Given the description of an element on the screen output the (x, y) to click on. 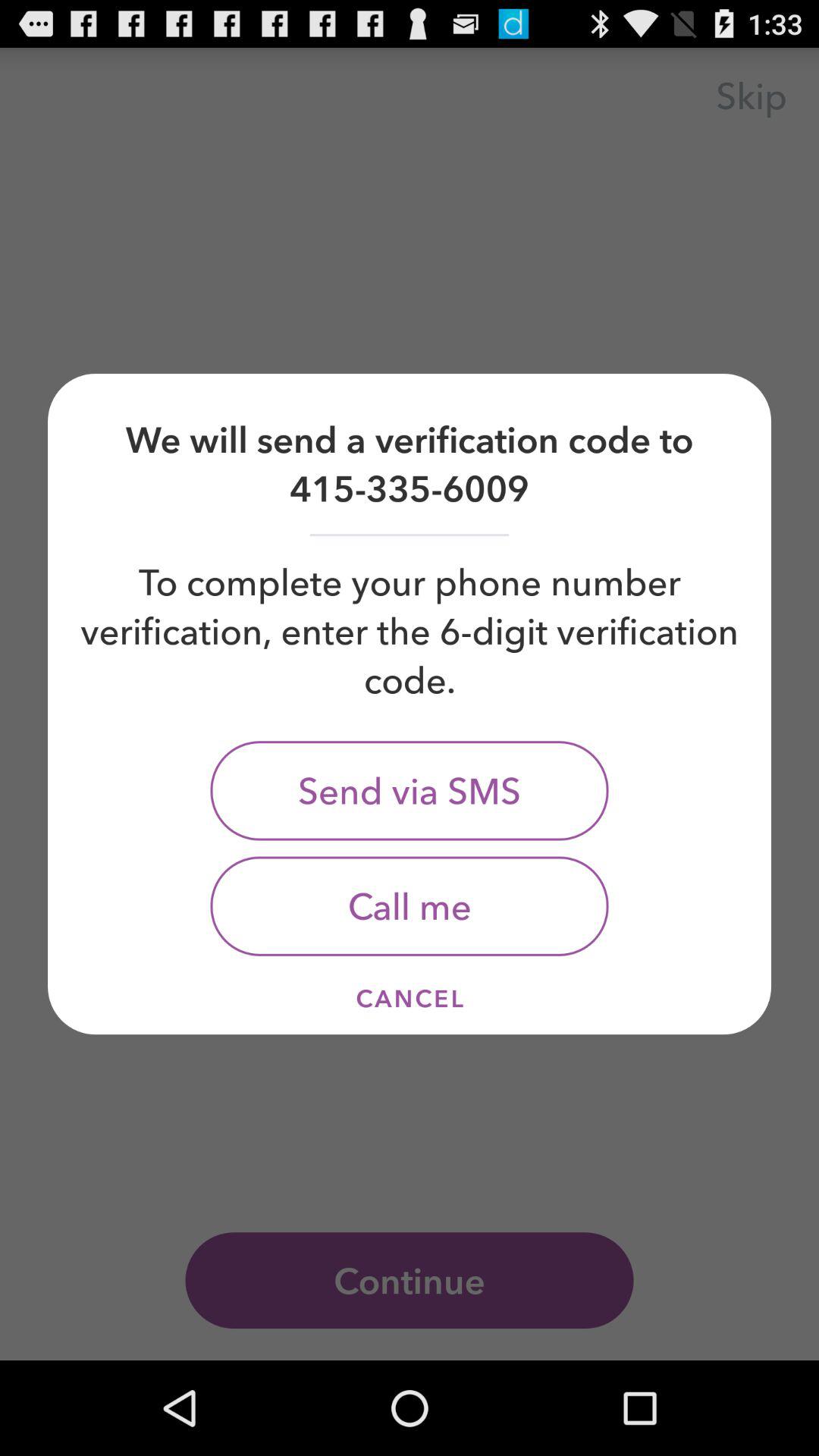
flip to the call me (409, 906)
